Given the description of an element on the screen output the (x, y) to click on. 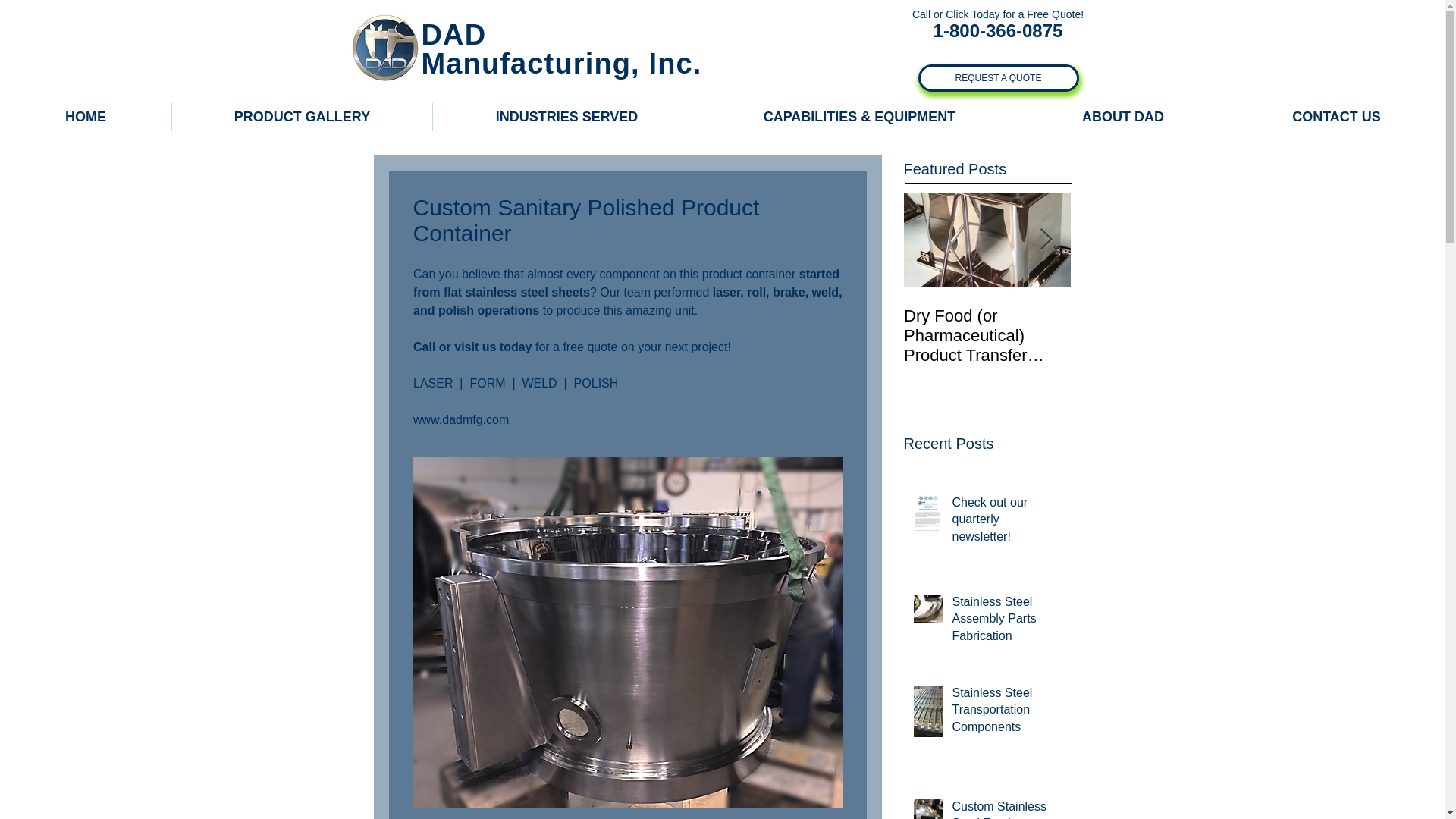
INDUSTRIES SERVED (566, 117)
PRODUCT GALLERY (301, 117)
HOME (85, 117)
Manufacturing, Inc. (561, 63)
DAD (454, 34)
REQUEST A QUOTE (997, 77)
ABOUT DAD (1122, 117)
